Given the description of an element on the screen output the (x, y) to click on. 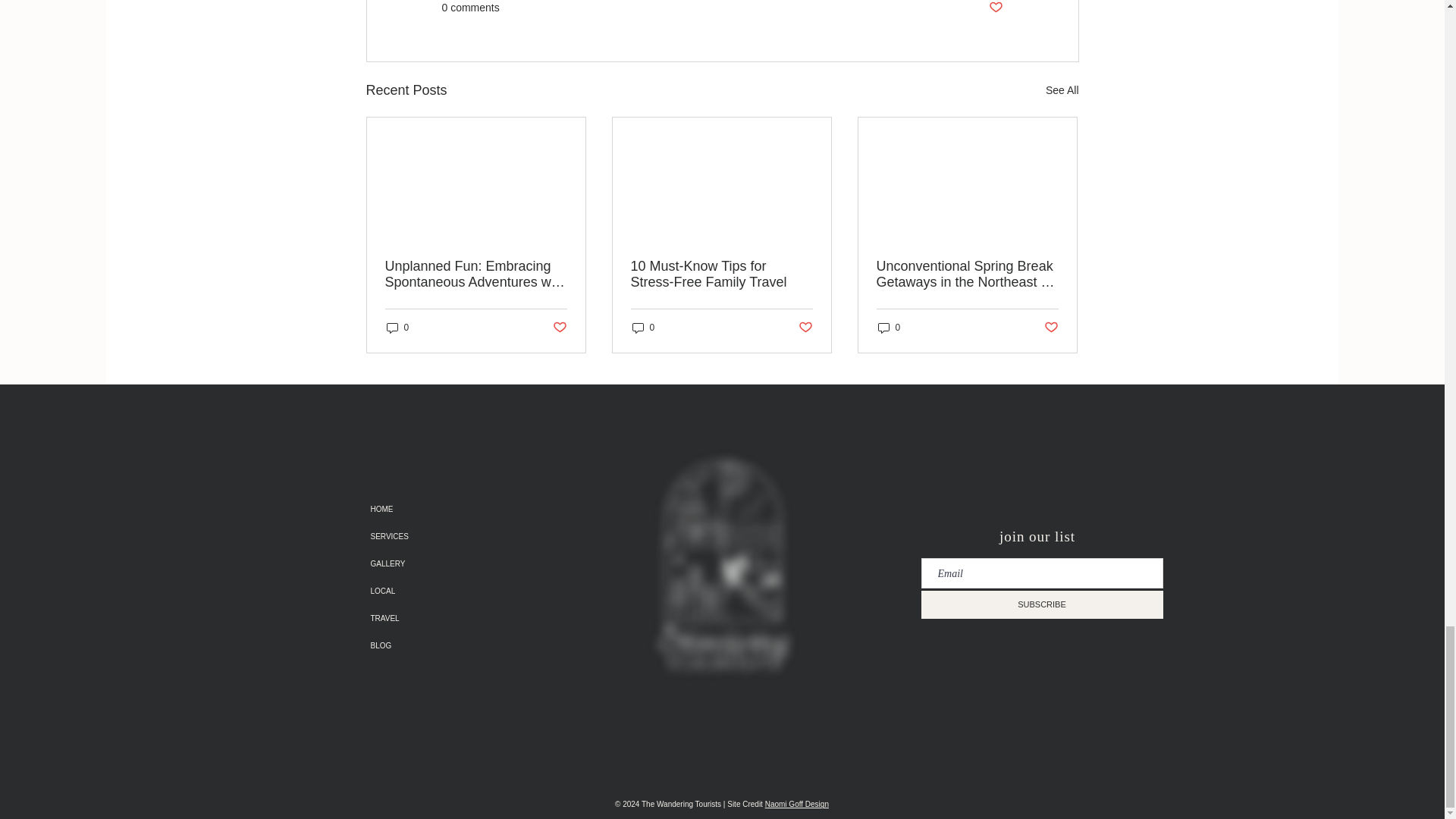
Post not marked as liked (558, 327)
Post not marked as liked (995, 7)
0 (397, 327)
Post not marked as liked (804, 327)
0 (643, 327)
See All (1061, 90)
10 Must-Know Tips for Stress-Free Family Travel (721, 274)
